Given the description of an element on the screen output the (x, y) to click on. 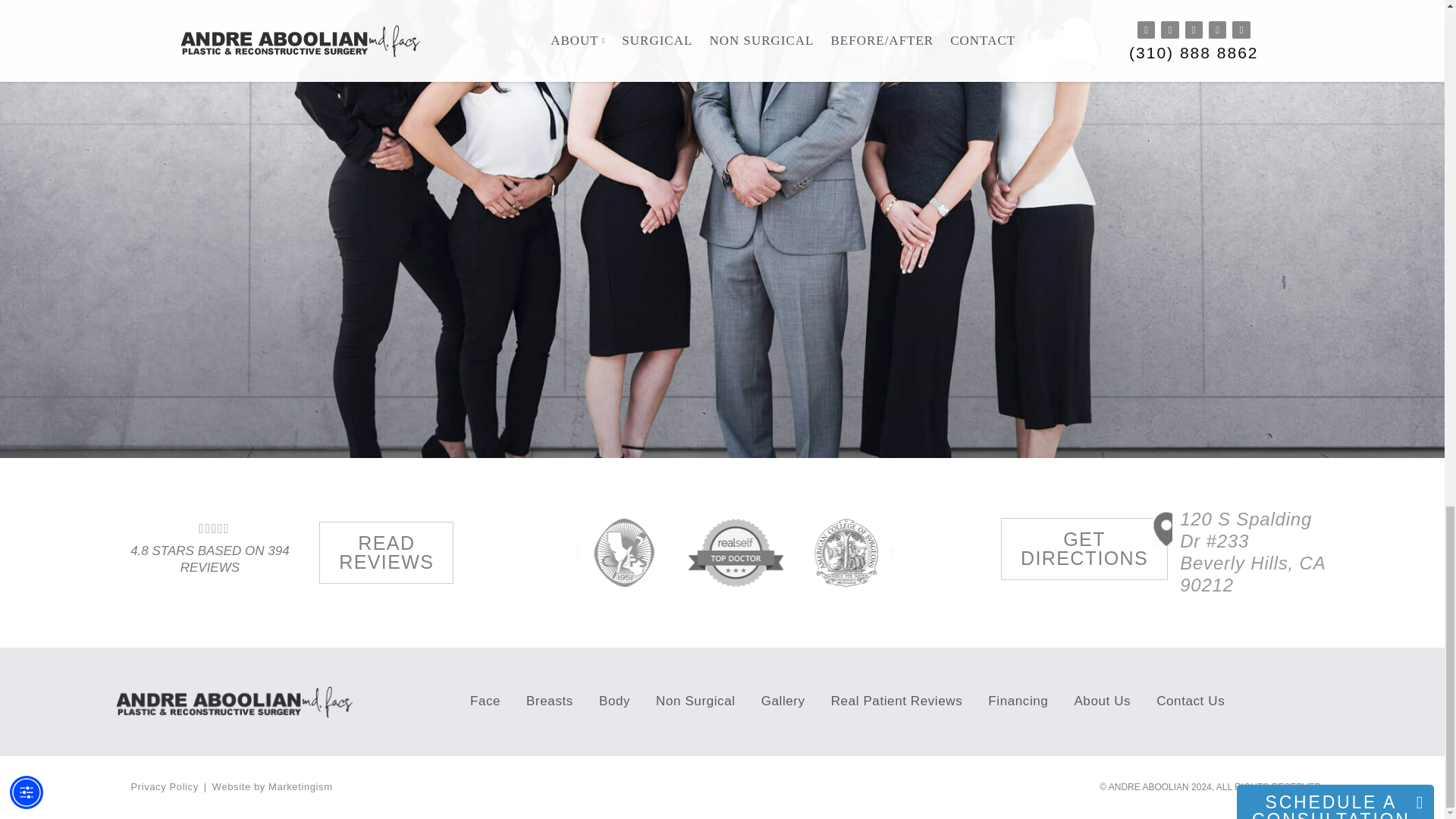
Logo For Web (240, 701)
